Given the description of an element on the screen output the (x, y) to click on. 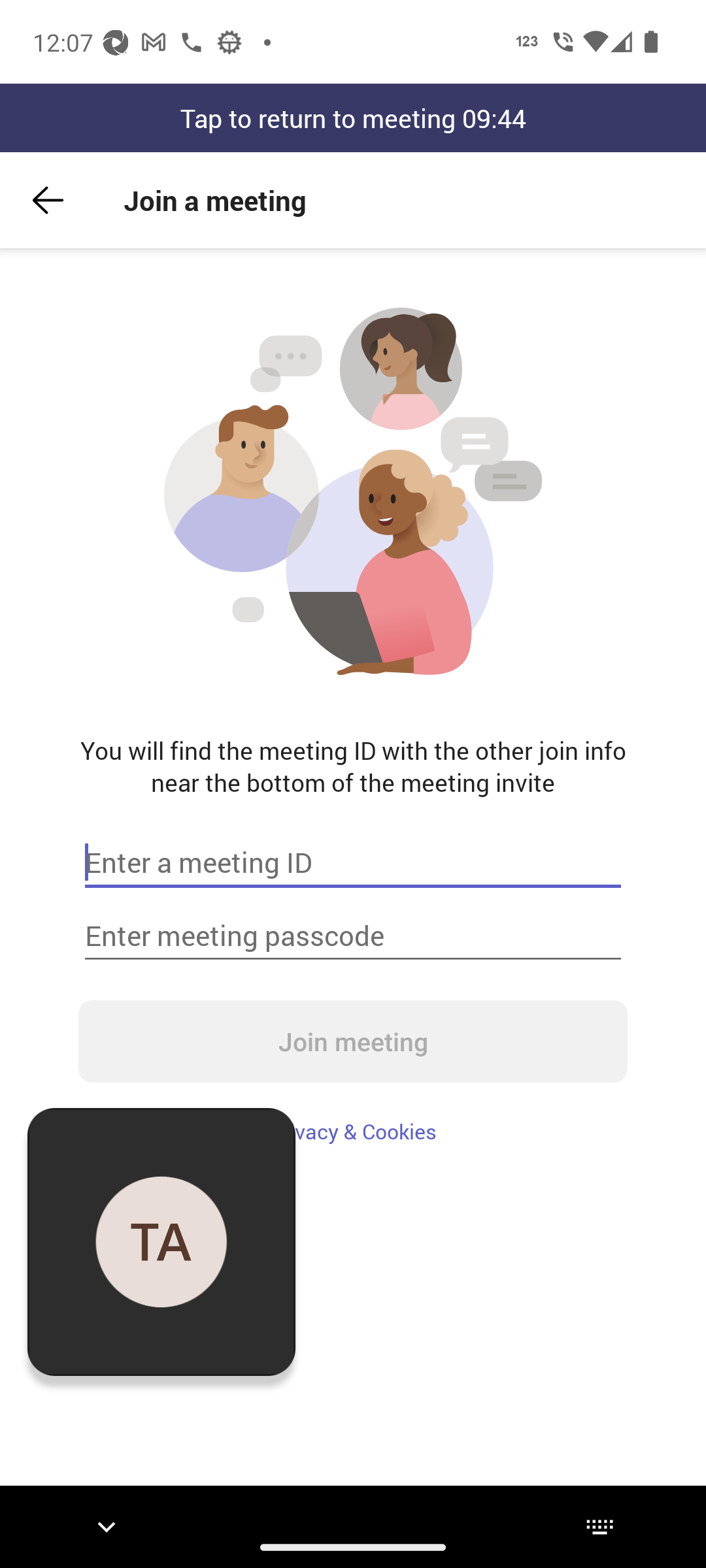
Tap to return to meeting 09:44 (353, 117)
Back (48, 199)
Enter a meeting ID (352, 863)
Enter meeting passcode (352, 936)
Join meeting (352, 1040)
